Given the description of an element on the screen output the (x, y) to click on. 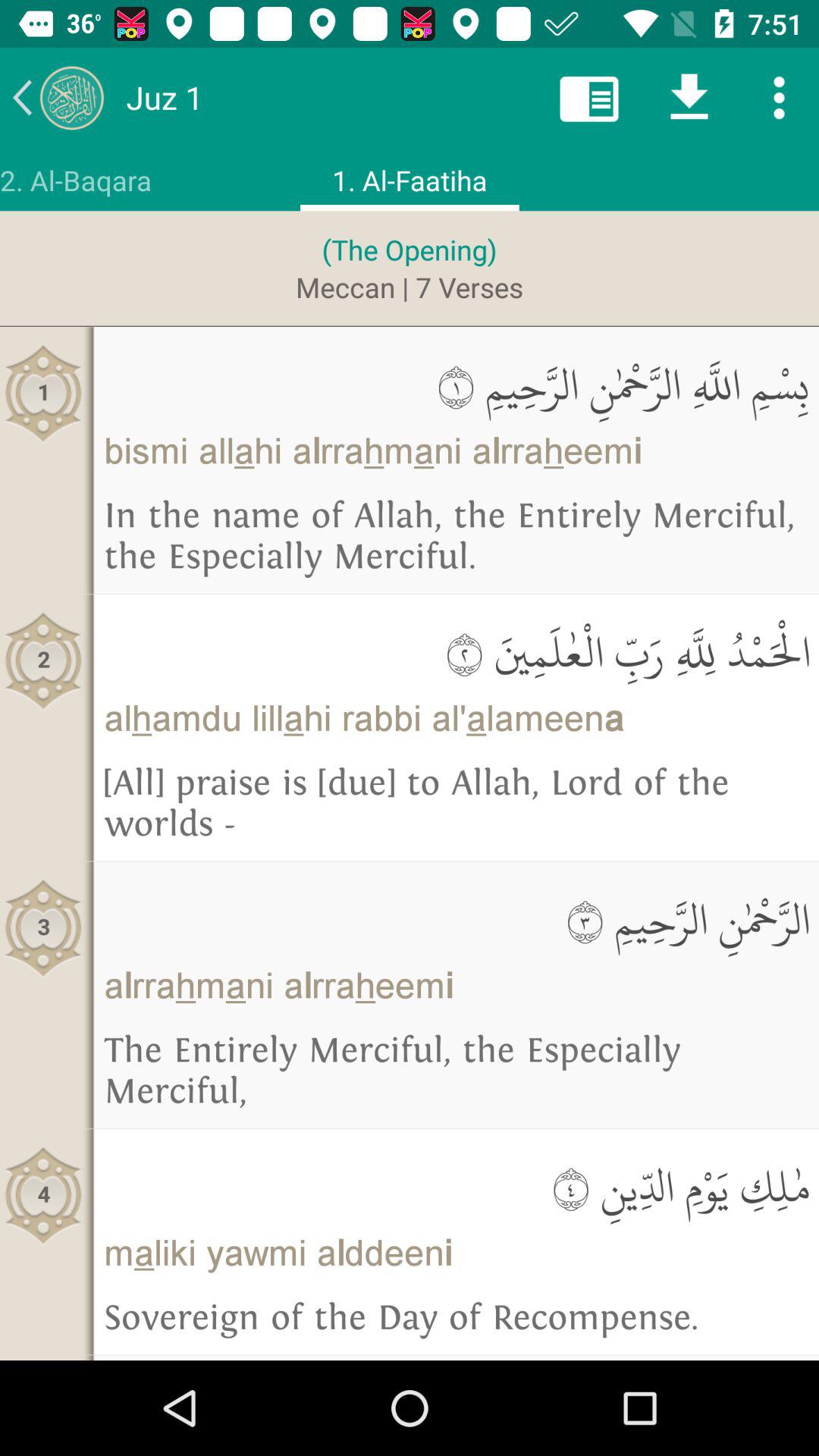
this app use for understand the quran (58, 97)
